Given the description of an element on the screen output the (x, y) to click on. 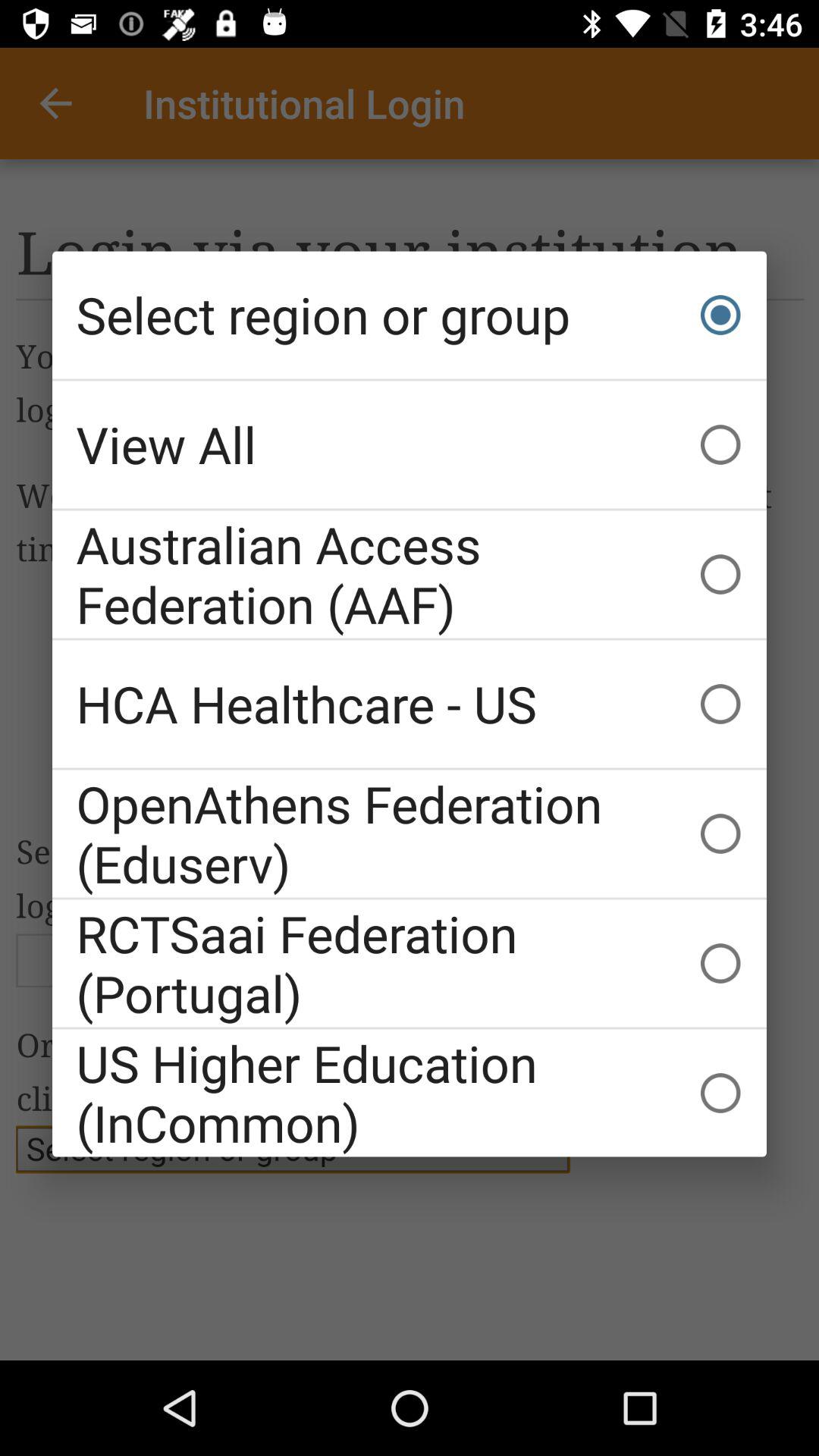
choose the openathens federation (eduserv) item (409, 833)
